Given the description of an element on the screen output the (x, y) to click on. 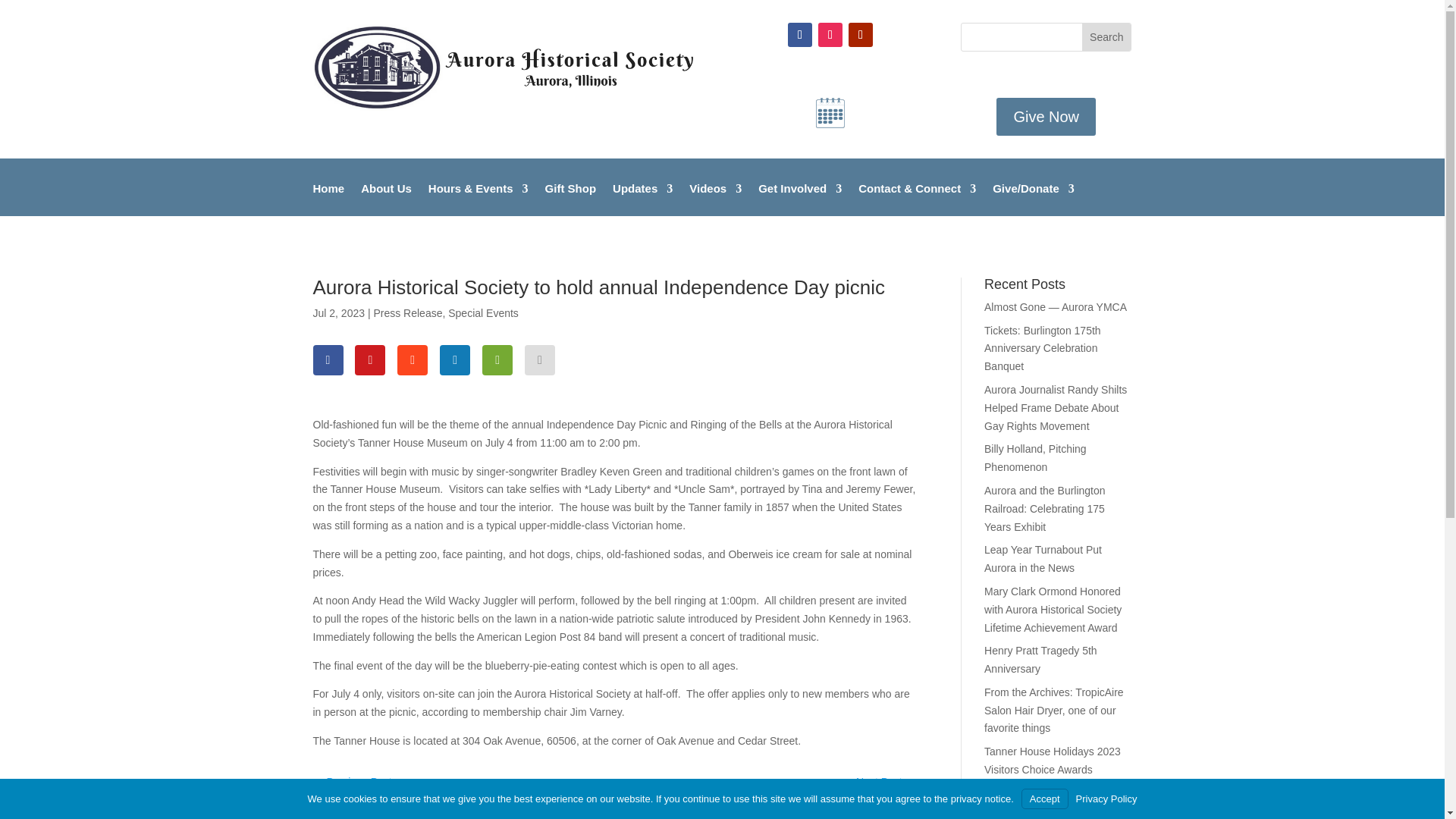
Follow on Facebook (799, 34)
Videos (714, 199)
Home (328, 199)
Search (1106, 36)
Follow on Youtube (860, 34)
Get Involved (799, 199)
Gift Shop (570, 199)
Updates (642, 199)
Search (1106, 36)
Give Now (1045, 116)
calendar icon (830, 112)
About Us (386, 199)
Search (1106, 36)
Follow on Instagram (830, 34)
